Given the description of an element on the screen output the (x, y) to click on. 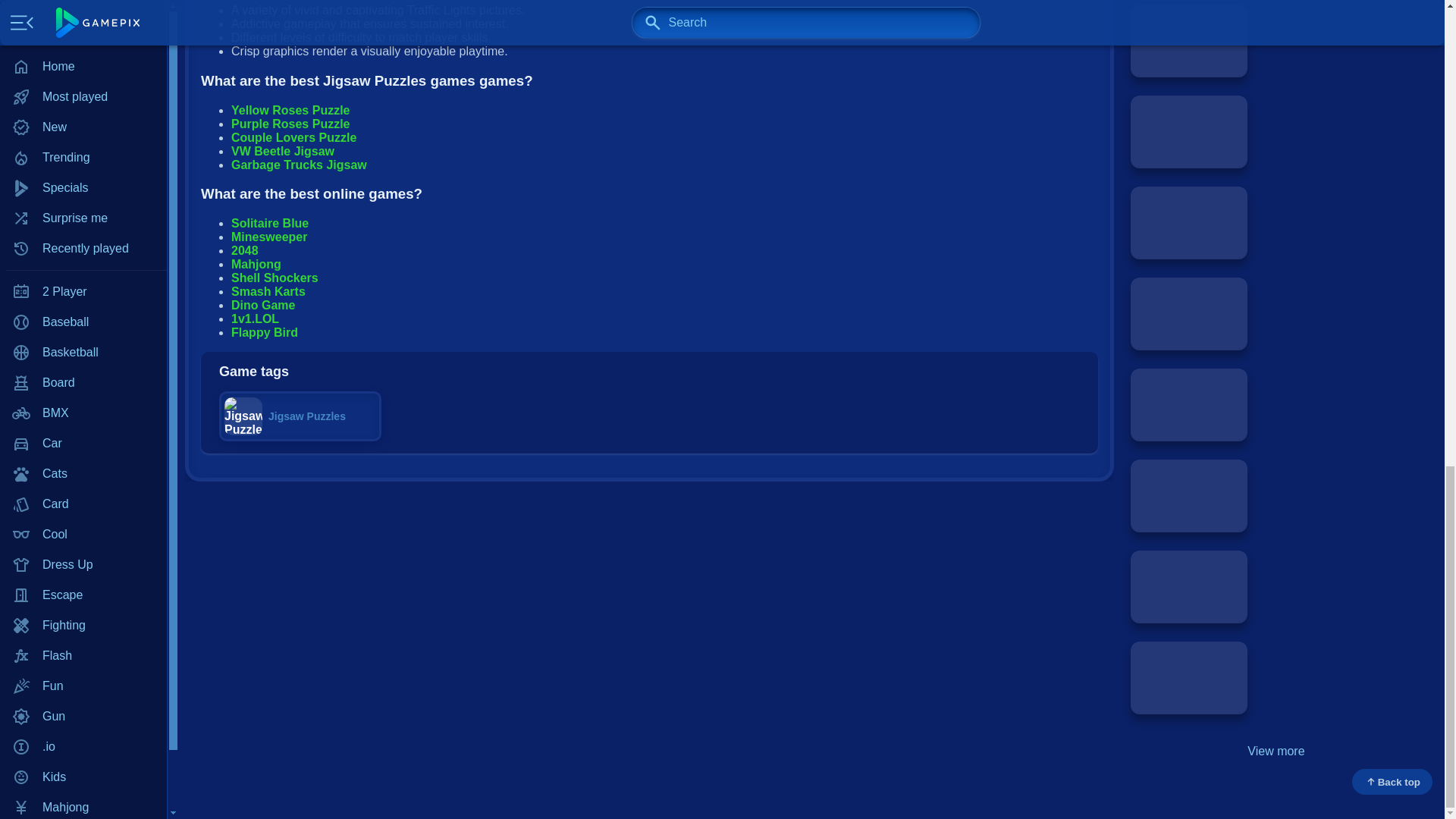
Word (83, 79)
War (83, 49)
Snake (83, 2)
Zombie (83, 110)
Soccer (83, 19)
